Given the description of an element on the screen output the (x, y) to click on. 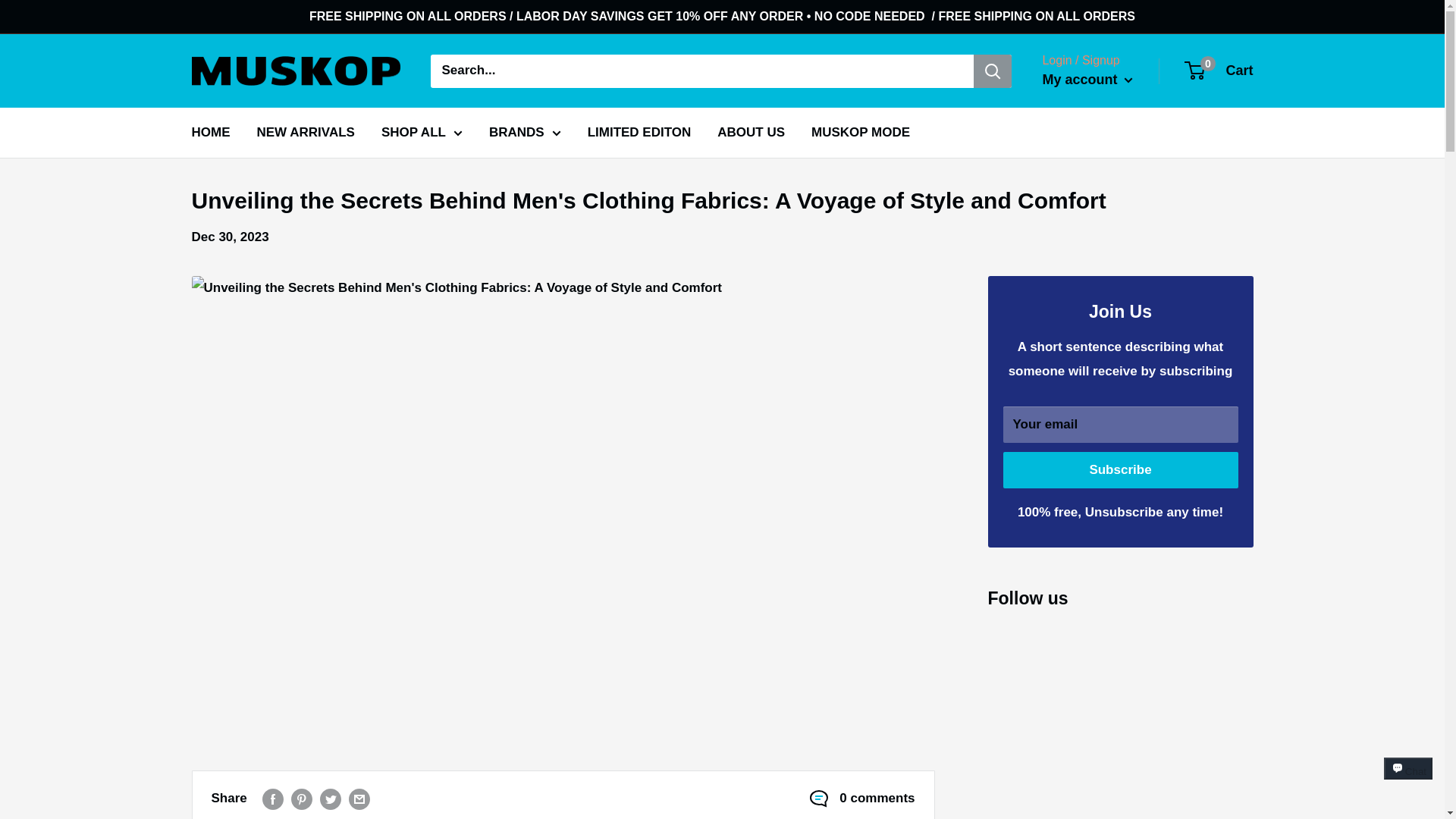
Shopify online store chat (1408, 781)
